Given the description of an element on the screen output the (x, y) to click on. 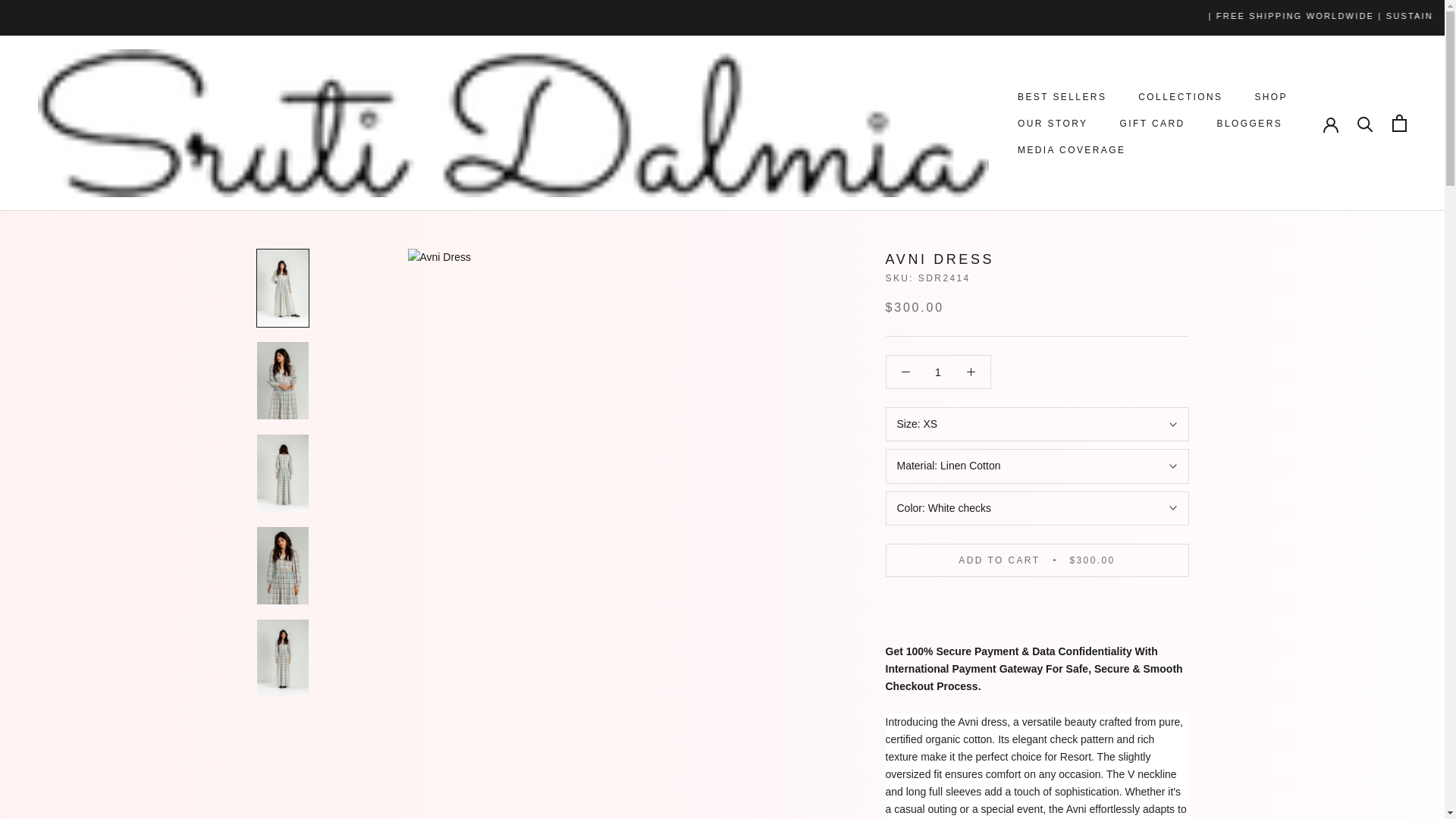
SHOP (1270, 96)
COLLECTIONS (1061, 96)
1 (1180, 96)
